Given the description of an element on the screen output the (x, y) to click on. 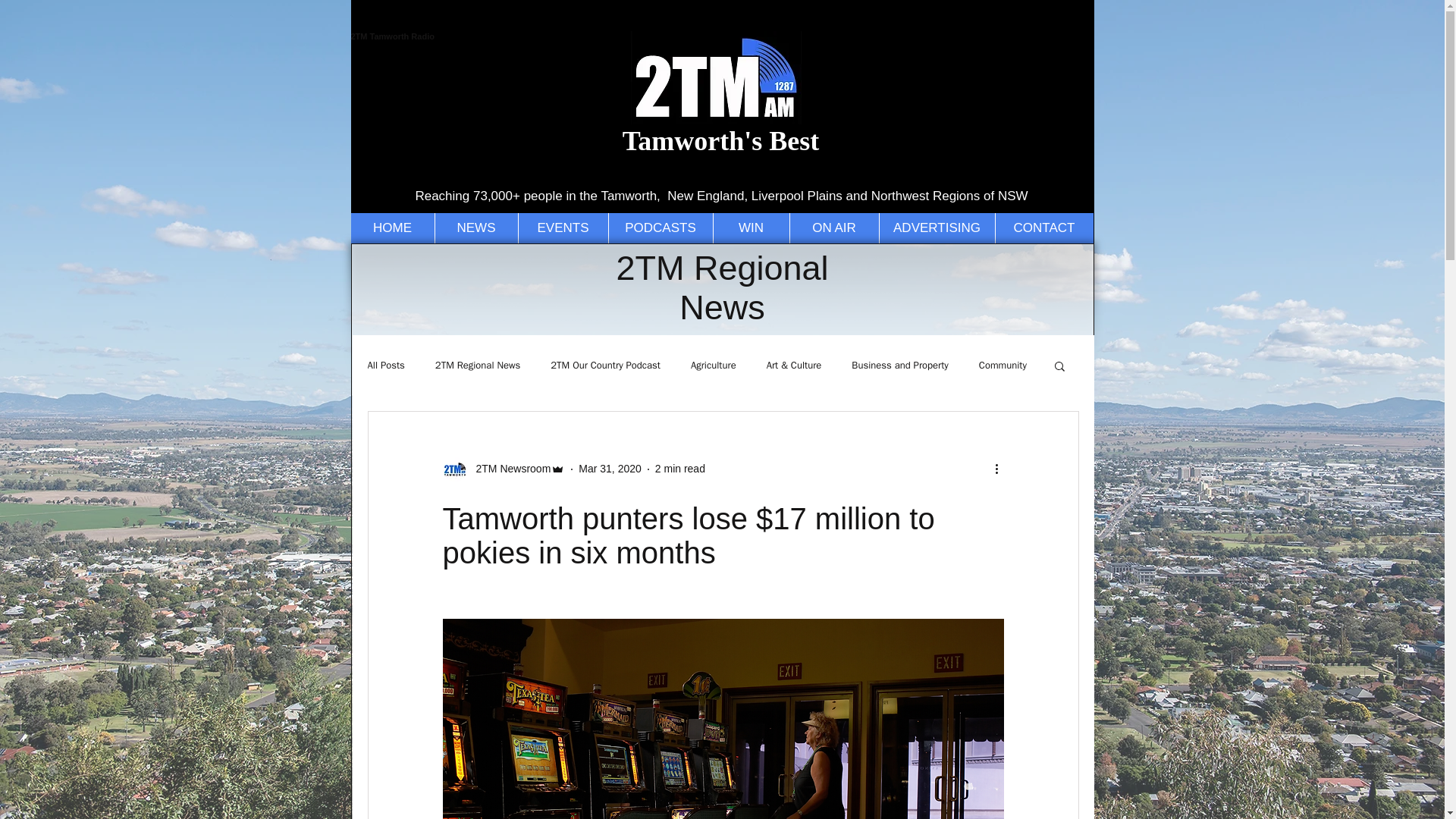
Agriculture (713, 365)
2TM Regional News (477, 365)
2TM Newsroom (509, 468)
2TM Our Country Podcast (605, 365)
Community (1002, 365)
2 min read (679, 468)
All Posts (385, 365)
HOME (391, 227)
Business and Property (899, 365)
Mar 31, 2020 (610, 468)
